Given the description of an element on the screen output the (x, y) to click on. 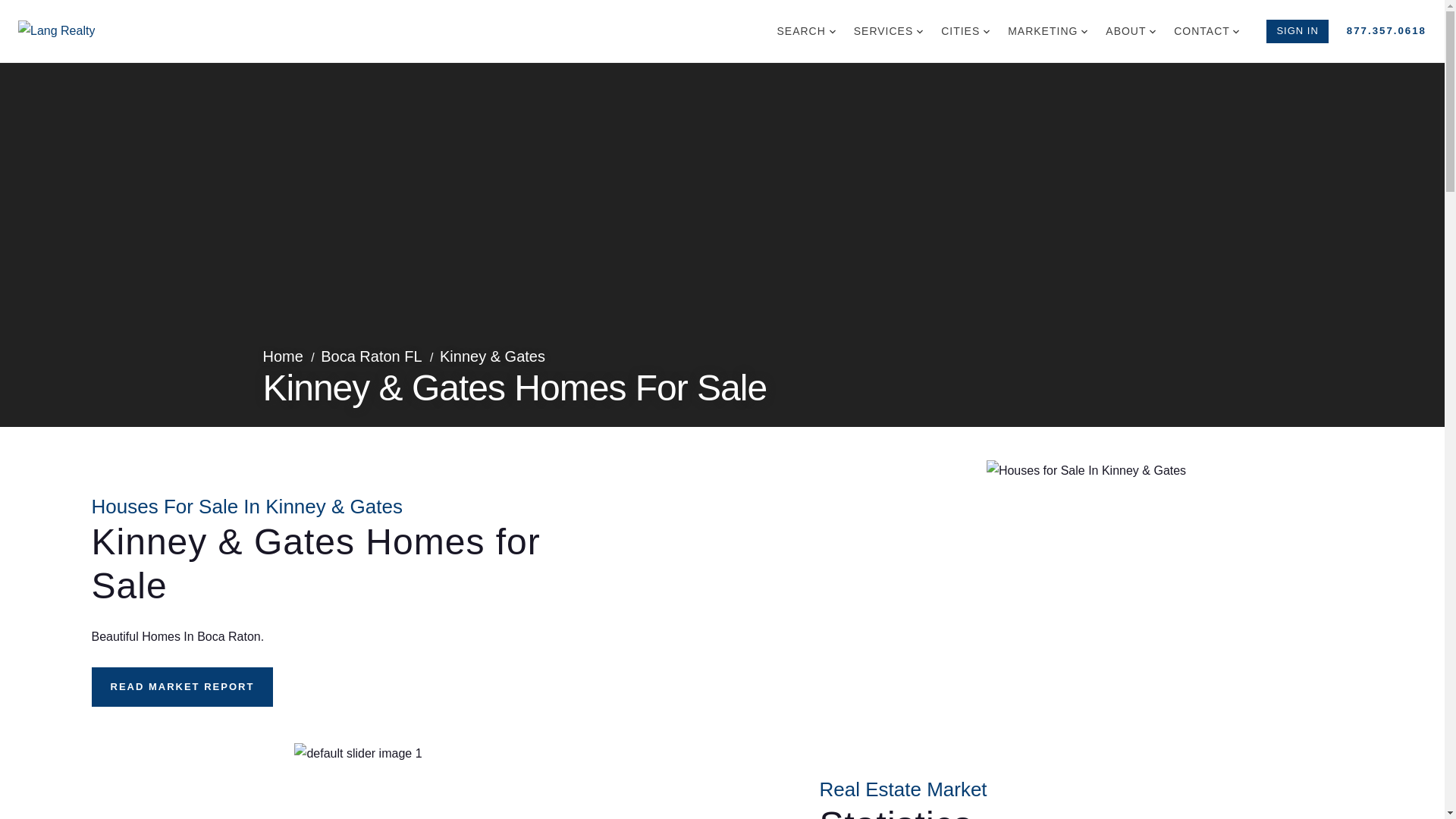
CITIES DROPDOWN ARROW (964, 31)
DROPDOWN ARROW (920, 31)
SERVICES DROPDOWN ARROW (887, 31)
DROPDOWN ARROW (832, 31)
DROPDOWN ARROW (1153, 31)
DROPDOWN ARROW (987, 31)
DROPDOWN ARROW (1084, 31)
DROPDOWN ARROW (1236, 31)
SEARCH DROPDOWN ARROW (805, 31)
